Given the description of an element on the screen output the (x, y) to click on. 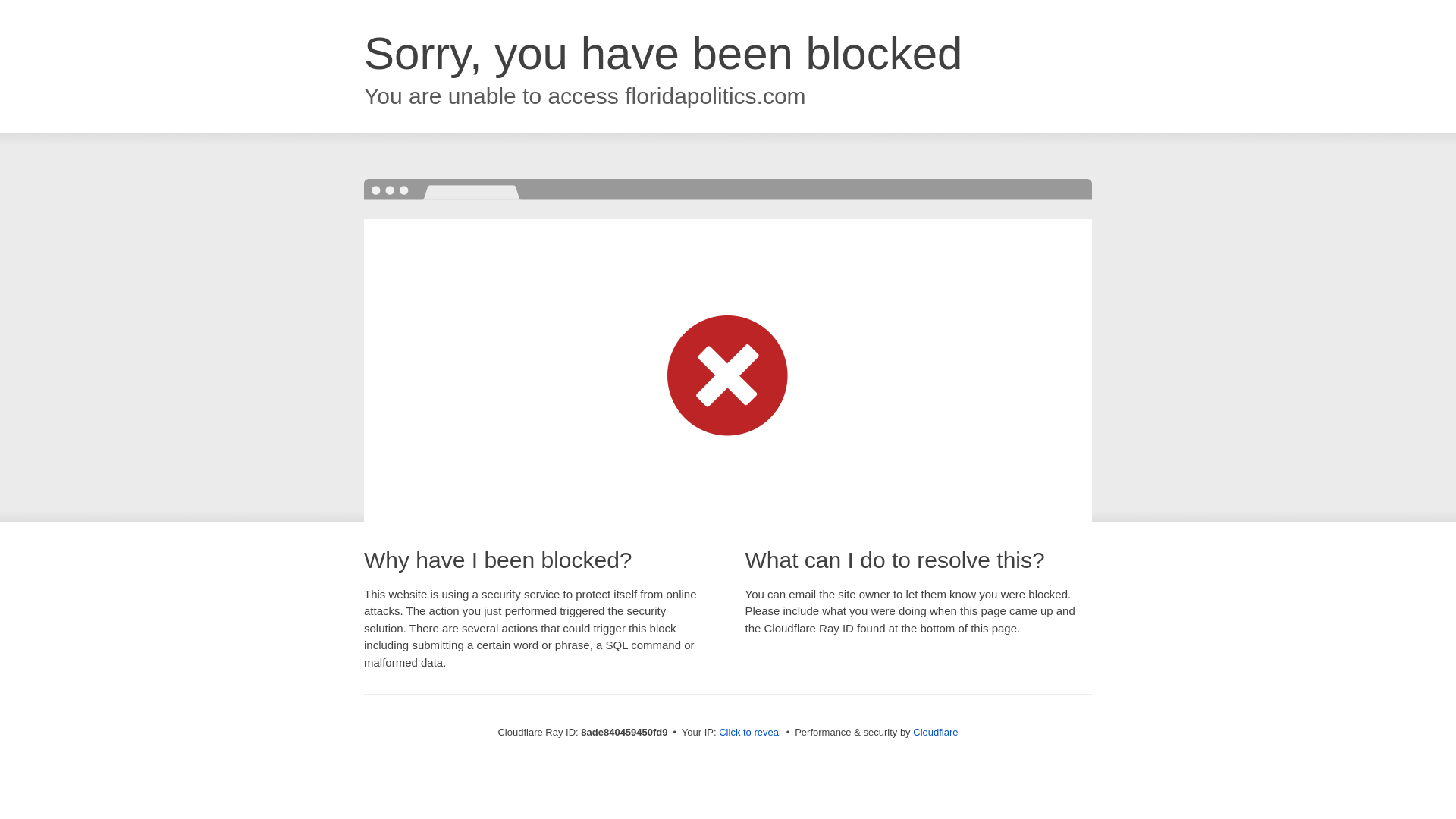
Click to reveal (749, 732)
Cloudflare (935, 731)
